Given the description of an element on the screen output the (x, y) to click on. 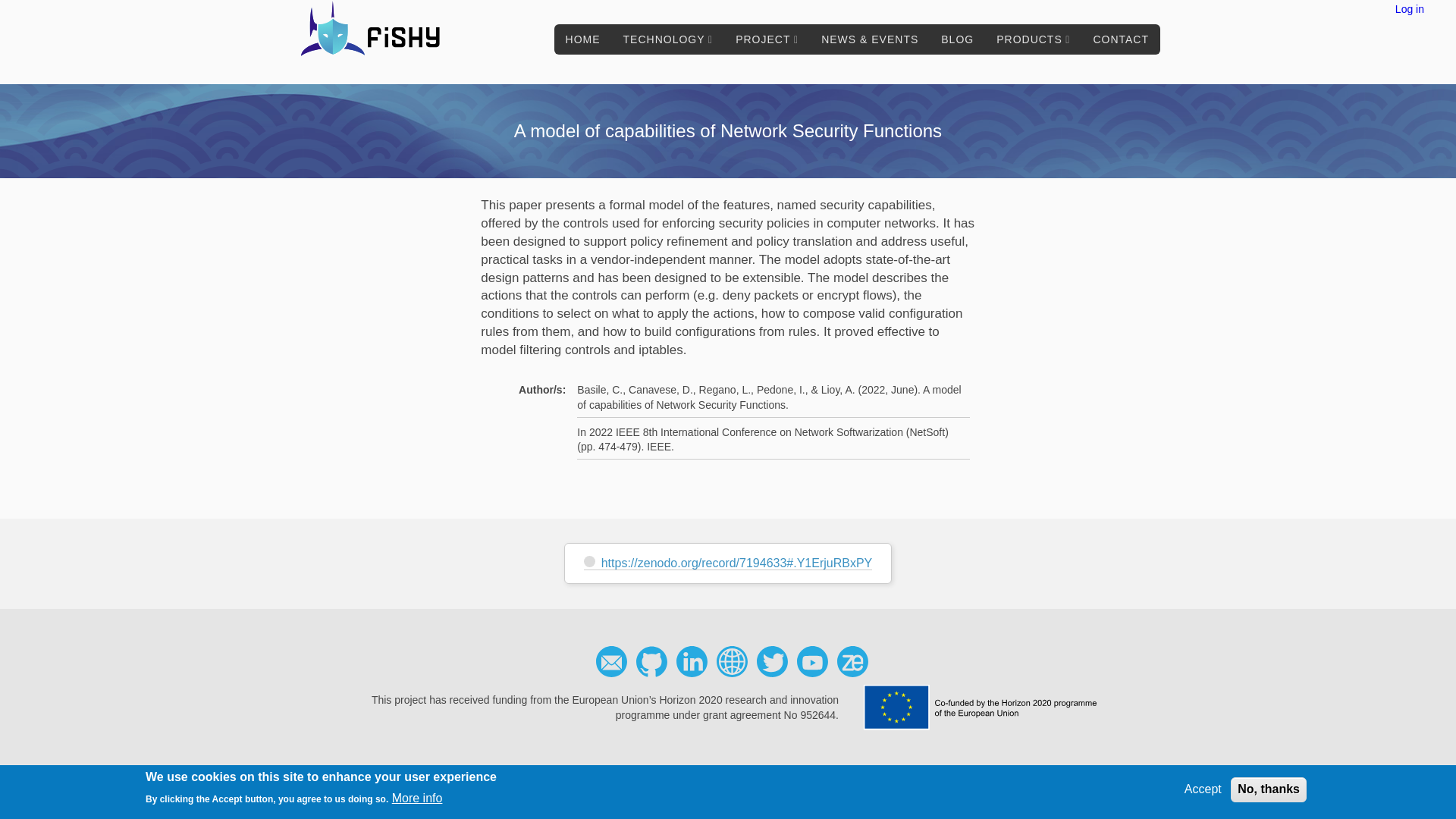
Zenodo (851, 661)
BLOG (957, 39)
Twitter (771, 661)
Contact (610, 661)
Social media (732, 661)
CONTACT (1120, 39)
HOME (582, 39)
Log in (1409, 9)
Github (651, 661)
Home (374, 33)
Linkedin (691, 661)
Youtube (812, 661)
All FISHY links (732, 661)
